Given the description of an element on the screen output the (x, y) to click on. 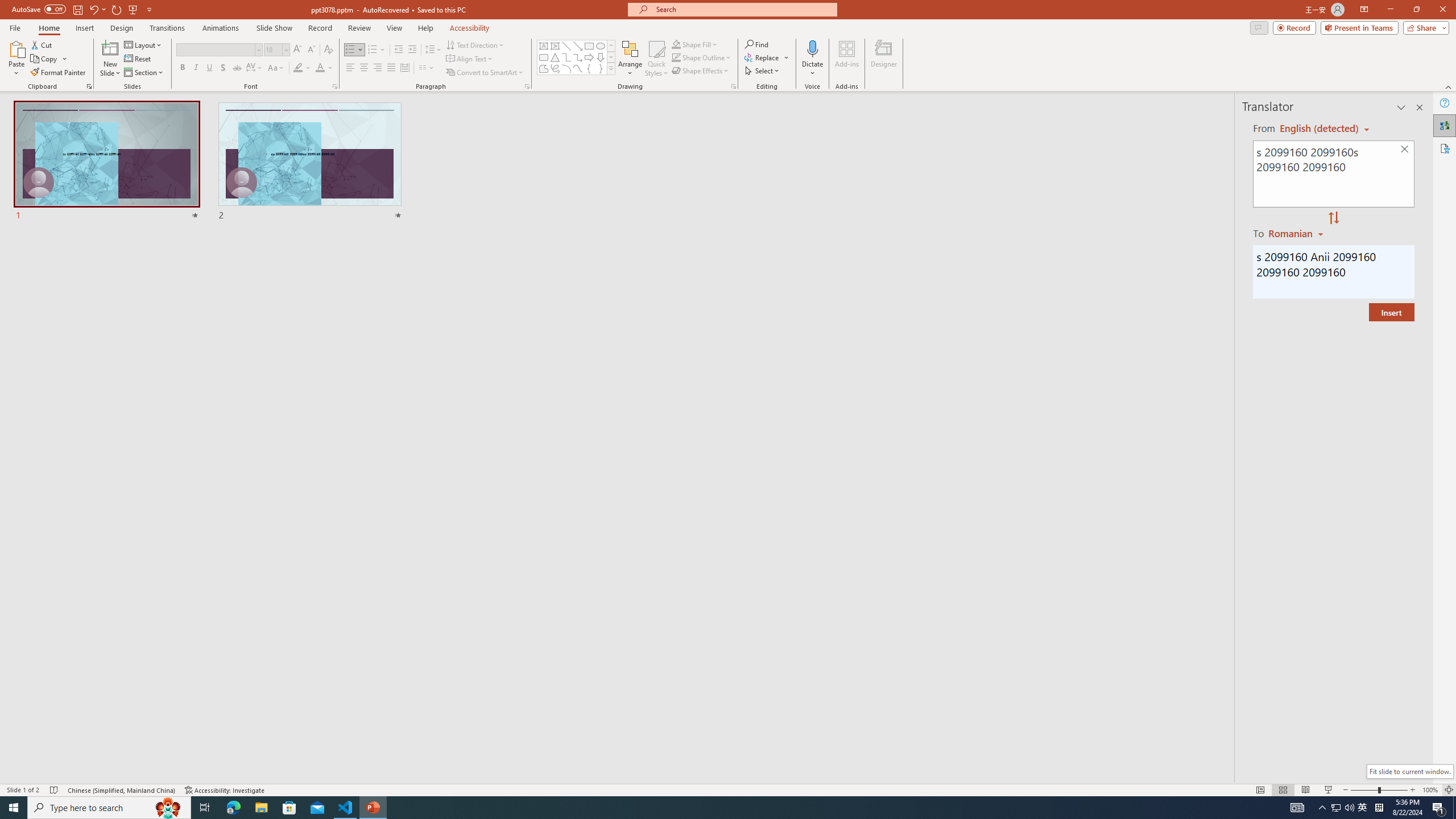
Czech (detected) (1319, 128)
Change Case (276, 67)
Oval (600, 45)
Select (762, 69)
